Given the description of an element on the screen output the (x, y) to click on. 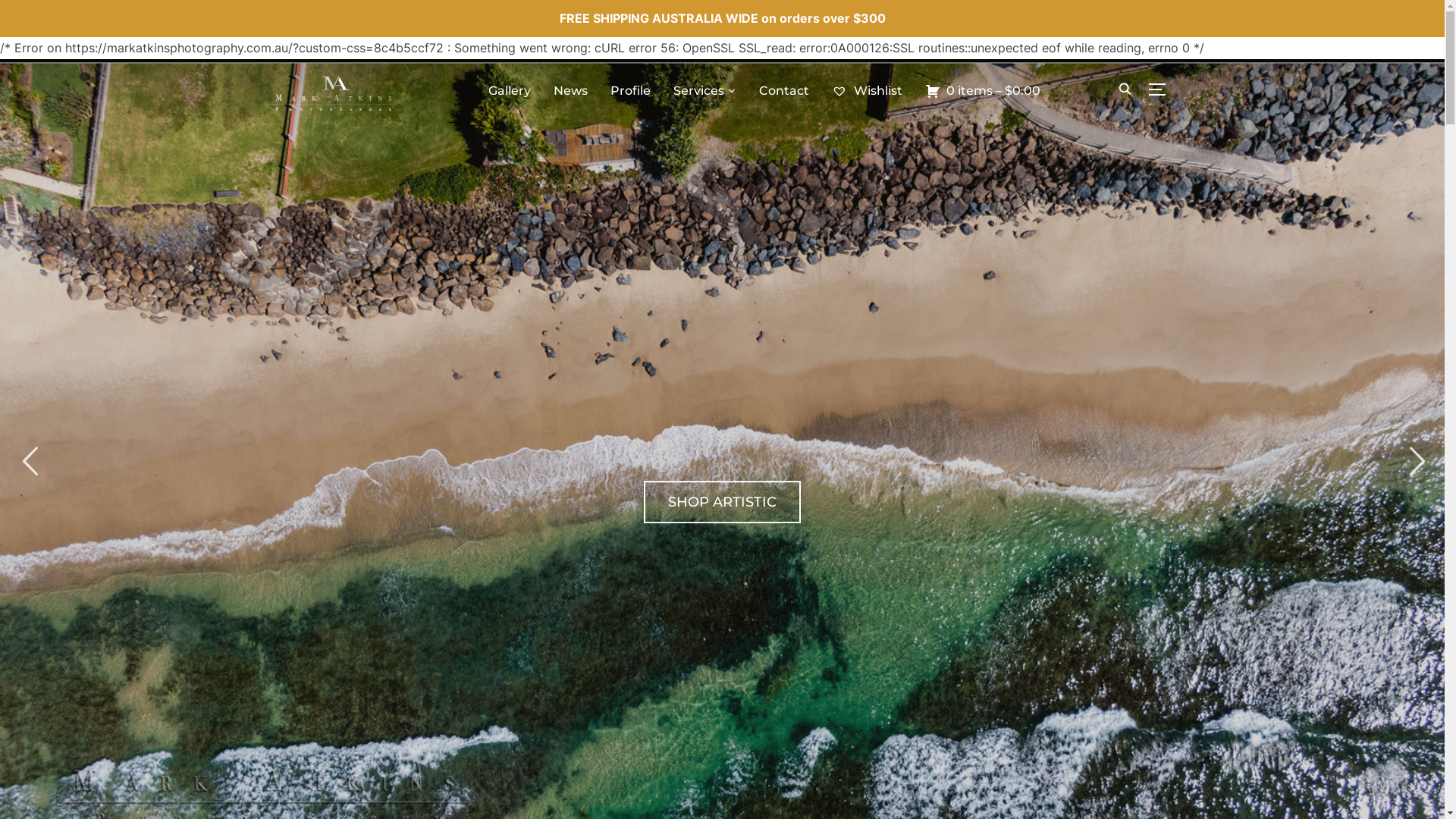
Contact Element type: text (783, 90)
Profile Element type: text (629, 90)
Next Element type: text (1414, 461)
Gallery Element type: text (509, 90)
TOGGLE SIDEBAR & NAVIGATION Element type: text (1161, 89)
Previous Element type: text (29, 461)
FREE SHIPPING AUSTRALIA WIDE on orders over $300 Element type: text (722, 17)
Services Element type: text (704, 90)
SHOP ARTISTIC Element type: text (721, 501)
Search Element type: text (15, 15)
News Element type: text (570, 90)
Wishlist Element type: text (866, 90)
